Given the description of an element on the screen output the (x, y) to click on. 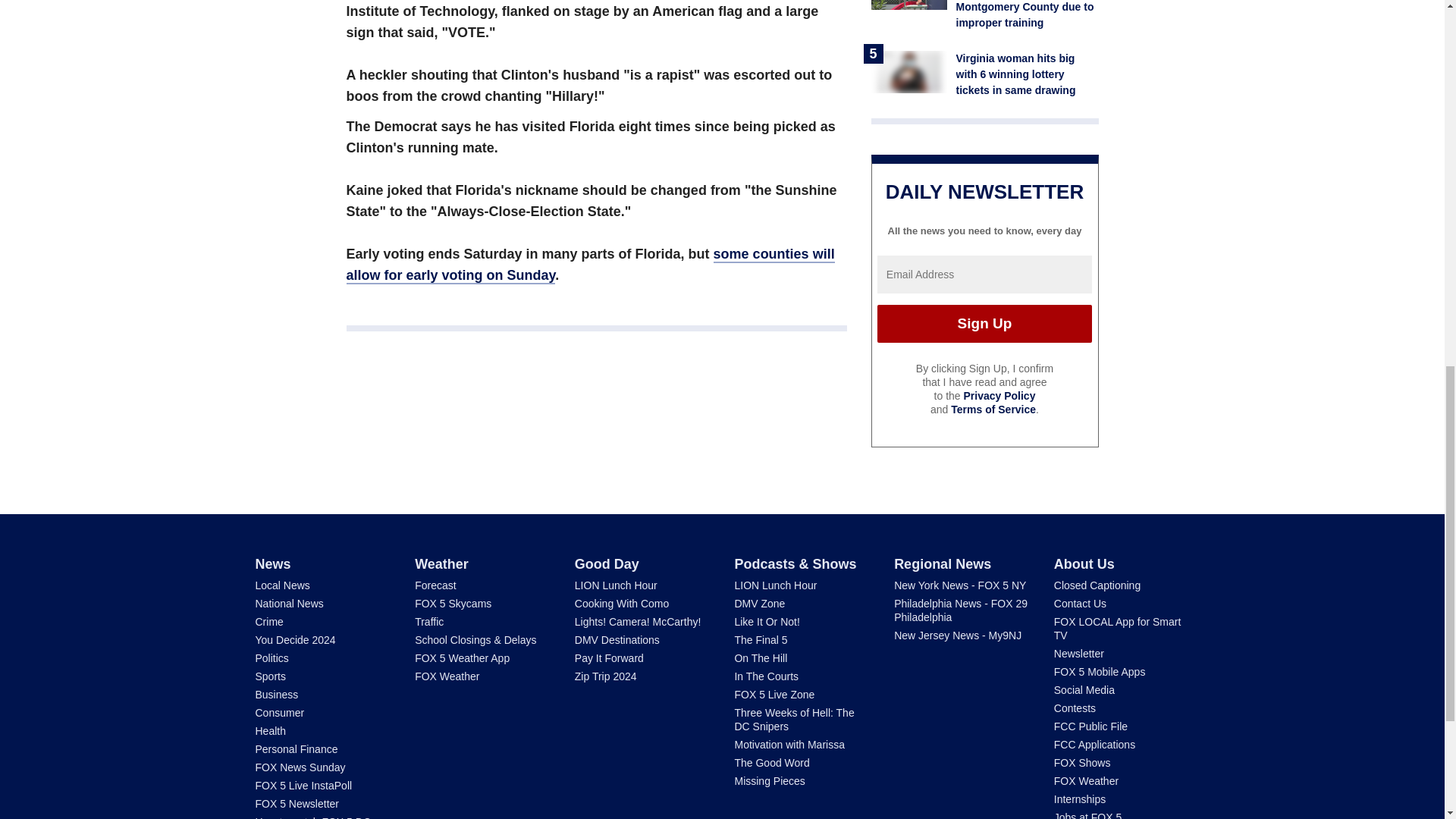
Sign Up (984, 323)
